Given the description of an element on the screen output the (x, y) to click on. 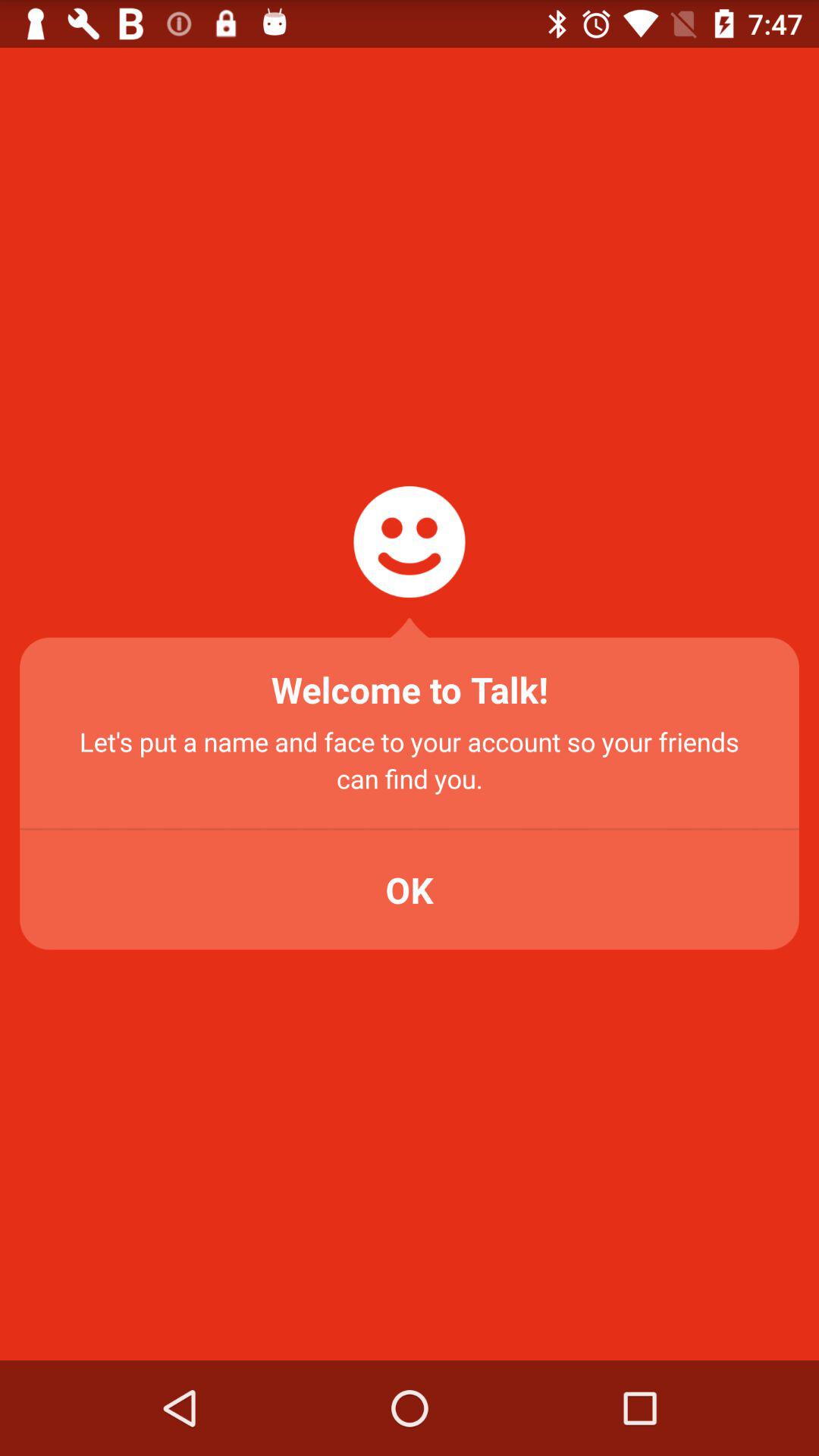
launch ok (409, 889)
